Given the description of an element on the screen output the (x, y) to click on. 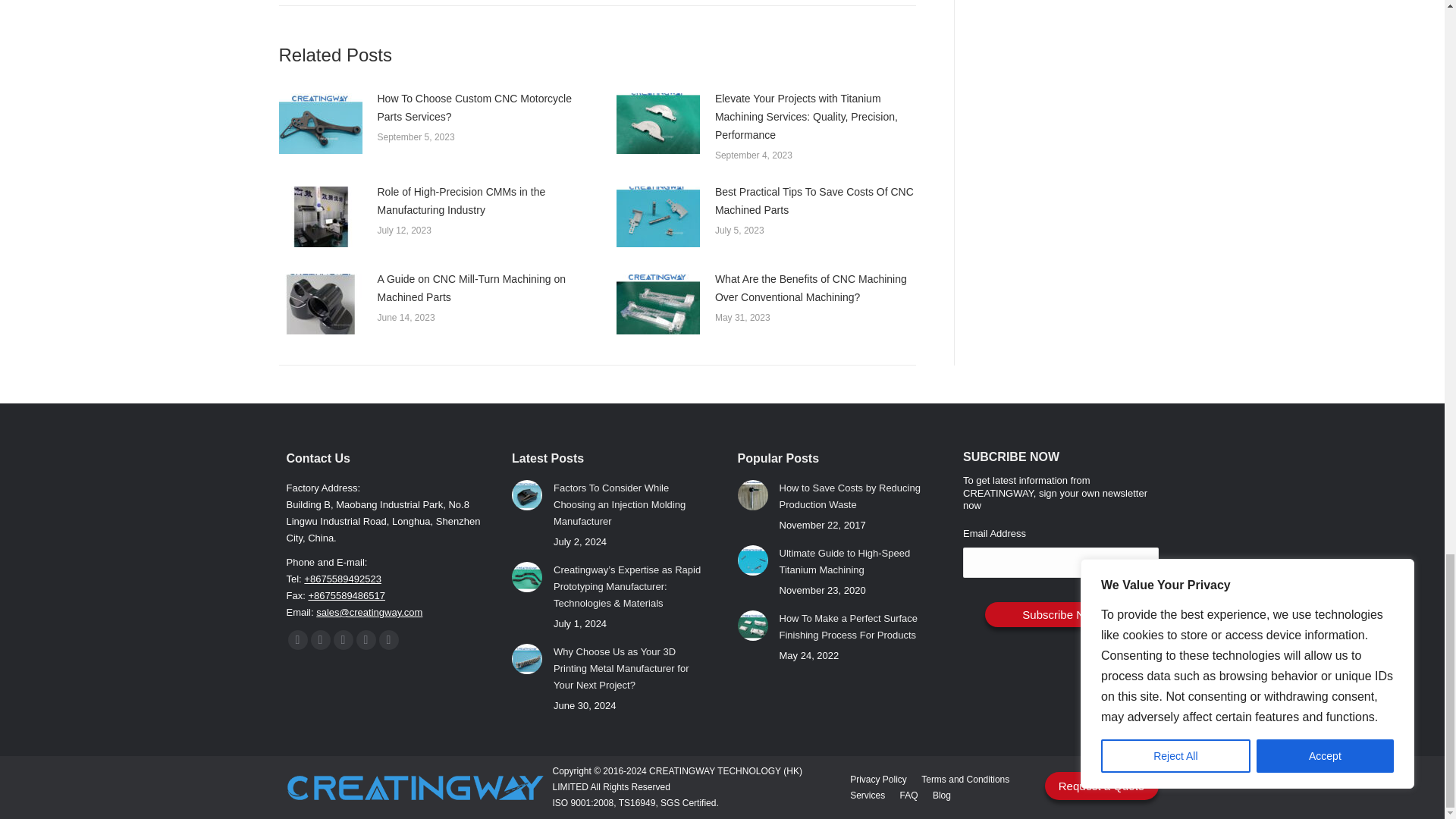
Subscribe Now (1061, 614)
